Given the description of an element on the screen output the (x, y) to click on. 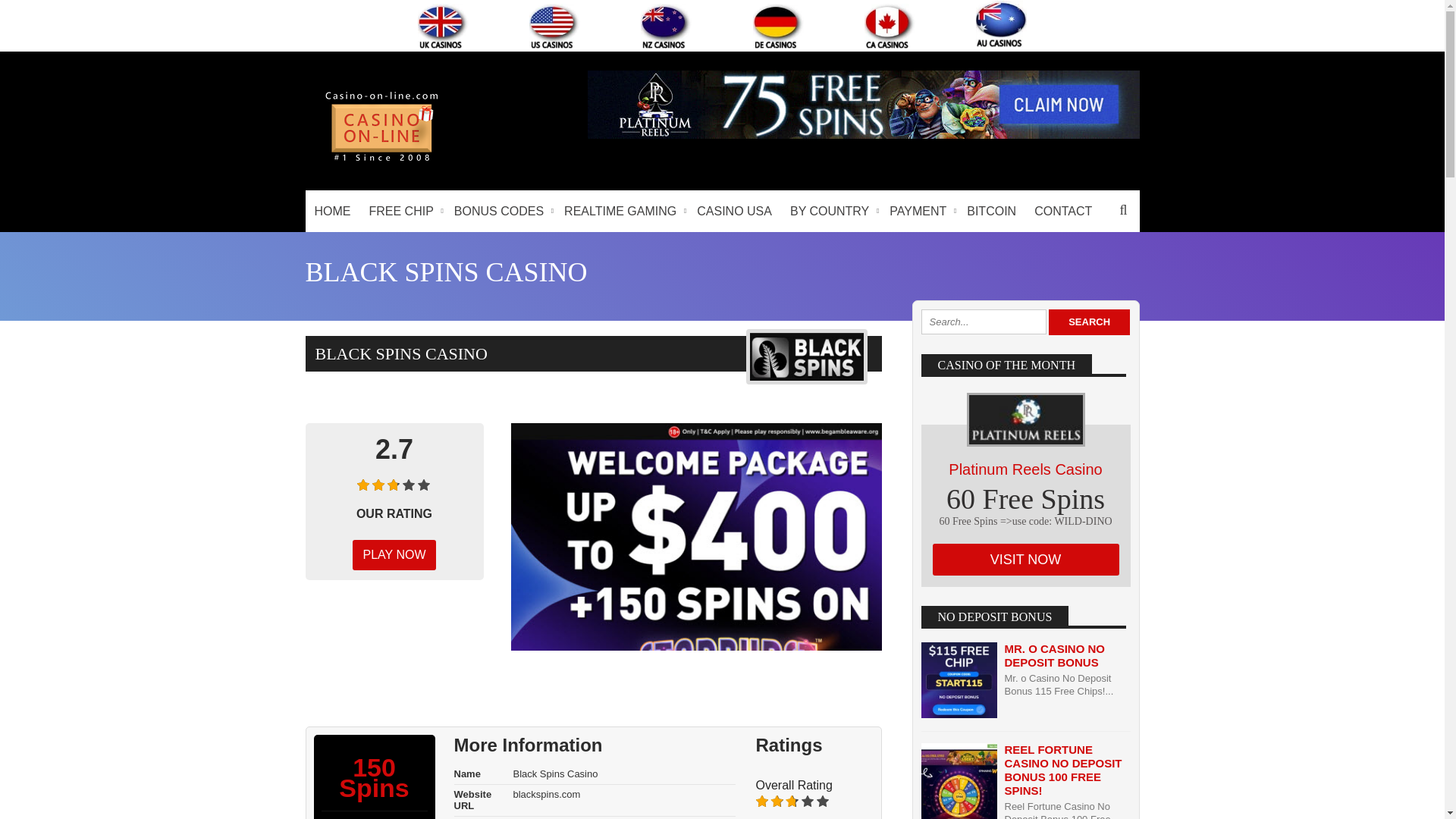
AU Casinos (1000, 24)
Casino-on-line.com (380, 160)
US Casinos (554, 26)
Search (1089, 321)
Search (1089, 321)
FREE CHIP (401, 210)
CA Casino (889, 26)
UK Casinos (442, 26)
HOME (331, 210)
Mr. o Casino No Deposit Bonus (1054, 655)
Reel Fortune Casino No Deposit Bonus 100 Free Spins! (1062, 769)
DE Casino (777, 26)
NZ Casinos (665, 26)
